Given the description of an element on the screen output the (x, y) to click on. 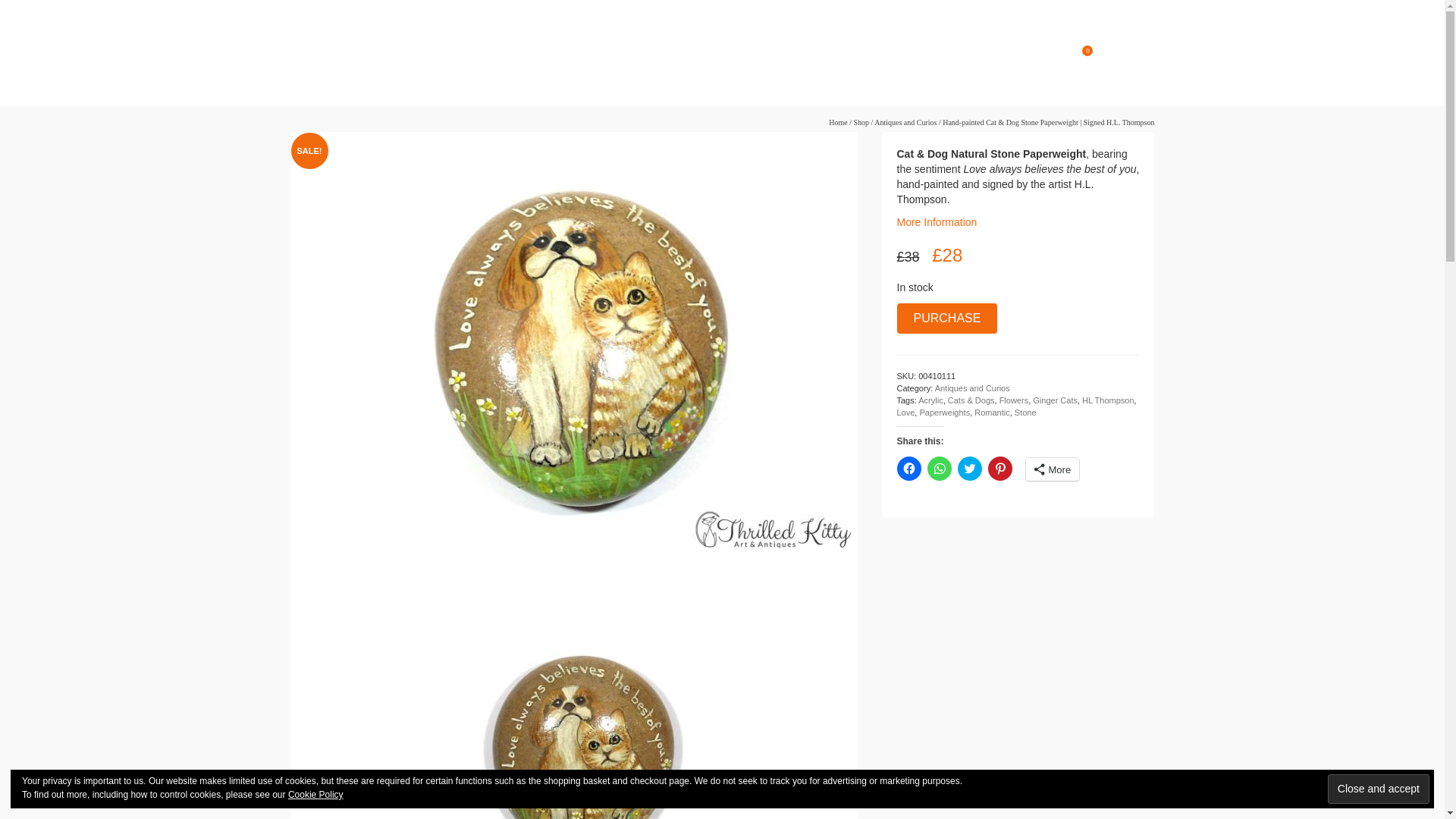
Click to share on Pinterest (999, 468)
Click to share on WhatsApp (938, 468)
Click to share on Twitter (968, 468)
Click to share on Facebook (908, 468)
Close and accept (1378, 788)
